Given the description of an element on the screen output the (x, y) to click on. 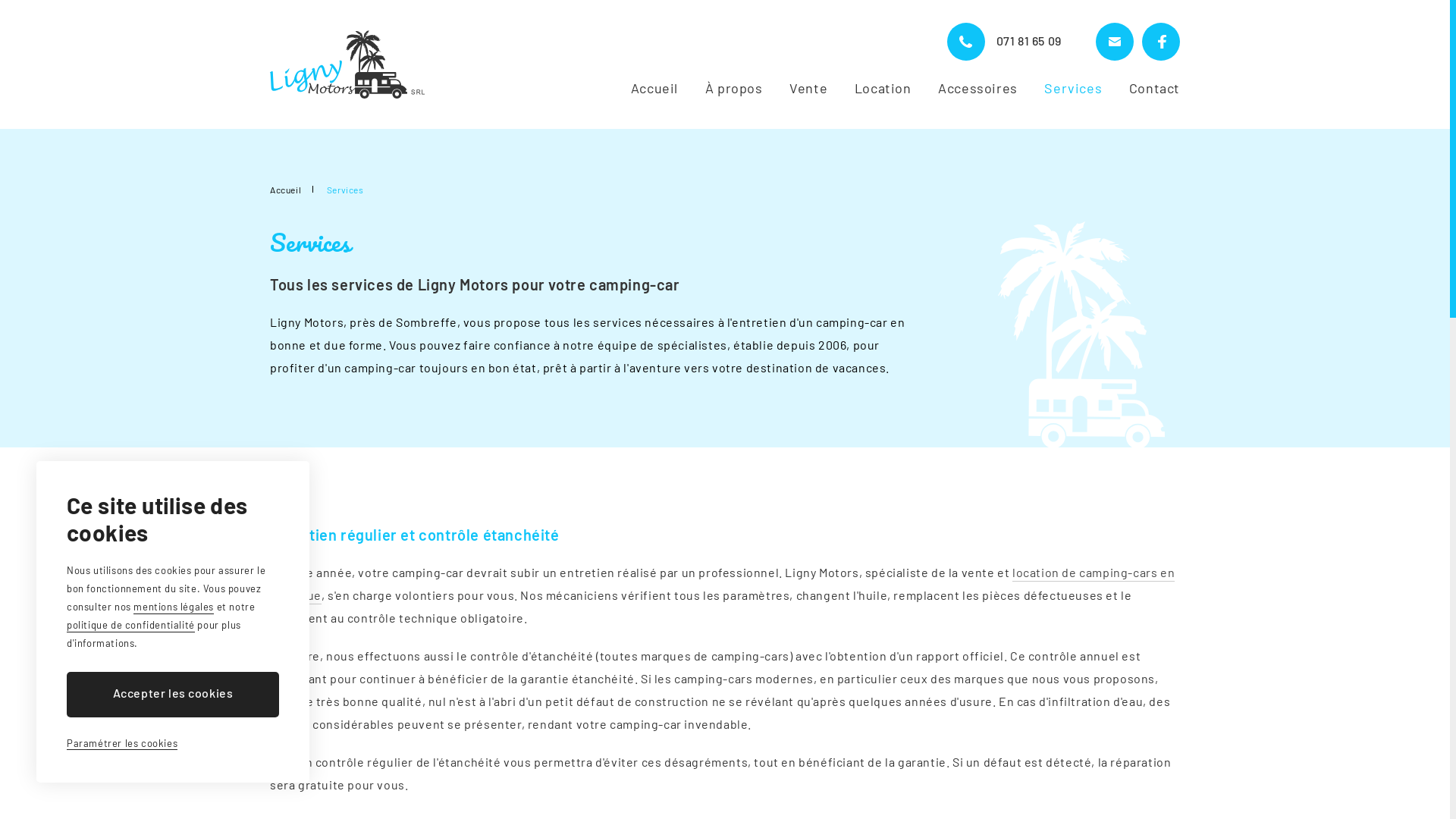
Services Element type: text (345, 189)
location de camping-cars en Belgique Element type: text (721, 584)
Ligny Motors Element type: hover (346, 64)
jm.voue@lignymotors.be Element type: hover (1114, 41)
Contact Element type: text (1154, 88)
Accessoires Element type: text (977, 88)
071 81 65 09 Element type: text (1004, 41)
Accueil Element type: text (653, 88)
Accueil Element type: text (285, 189)
Vente Element type: text (808, 88)
Suivez-nous sur Facebook Element type: hover (1160, 41)
Services Element type: text (1072, 88)
Location Element type: text (882, 88)
